Given the description of an element on the screen output the (x, y) to click on. 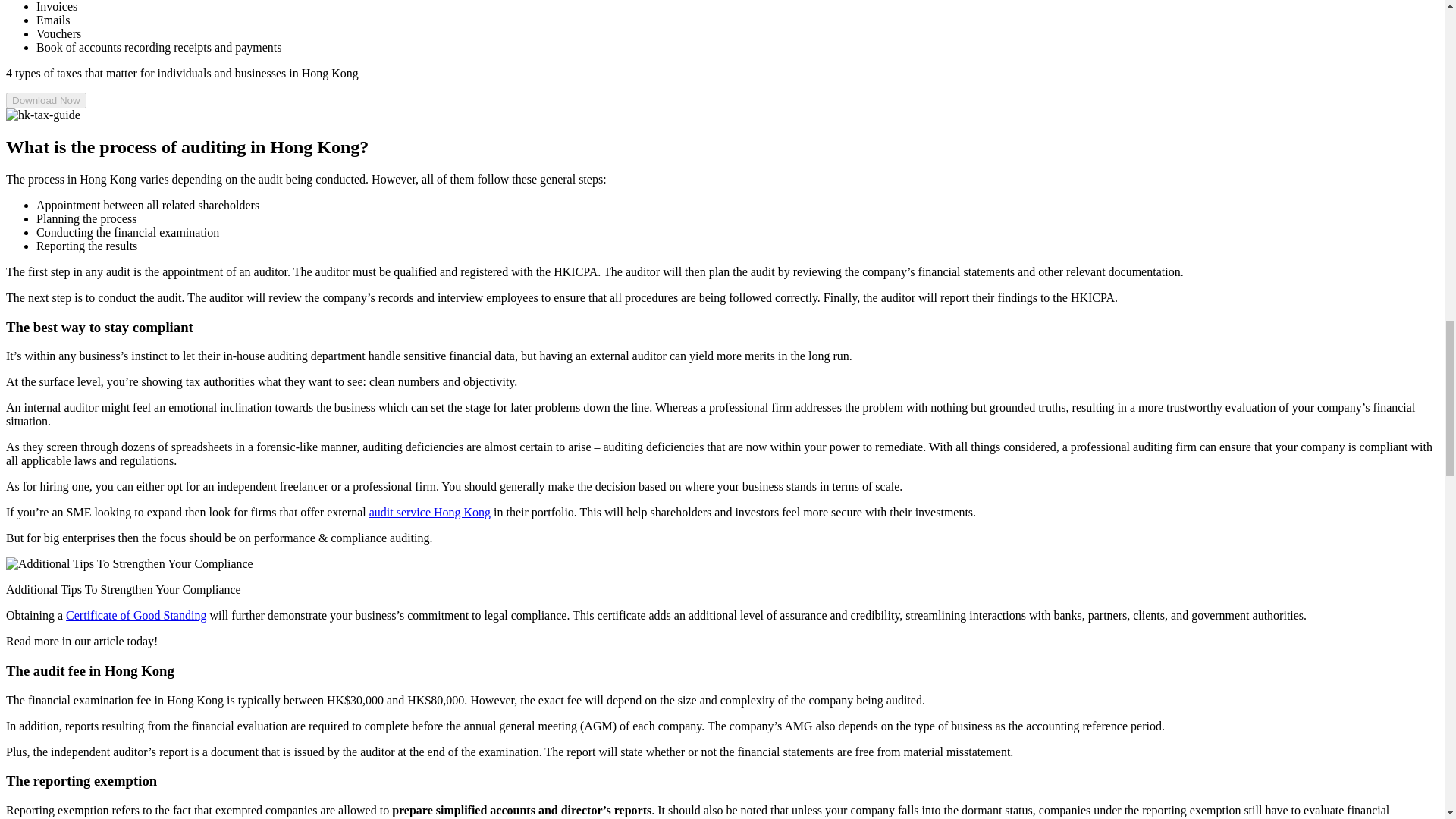
Download Now (45, 100)
Certificate of Good Standing (135, 615)
audit service Hong Kong (429, 512)
